Given the description of an element on the screen output the (x, y) to click on. 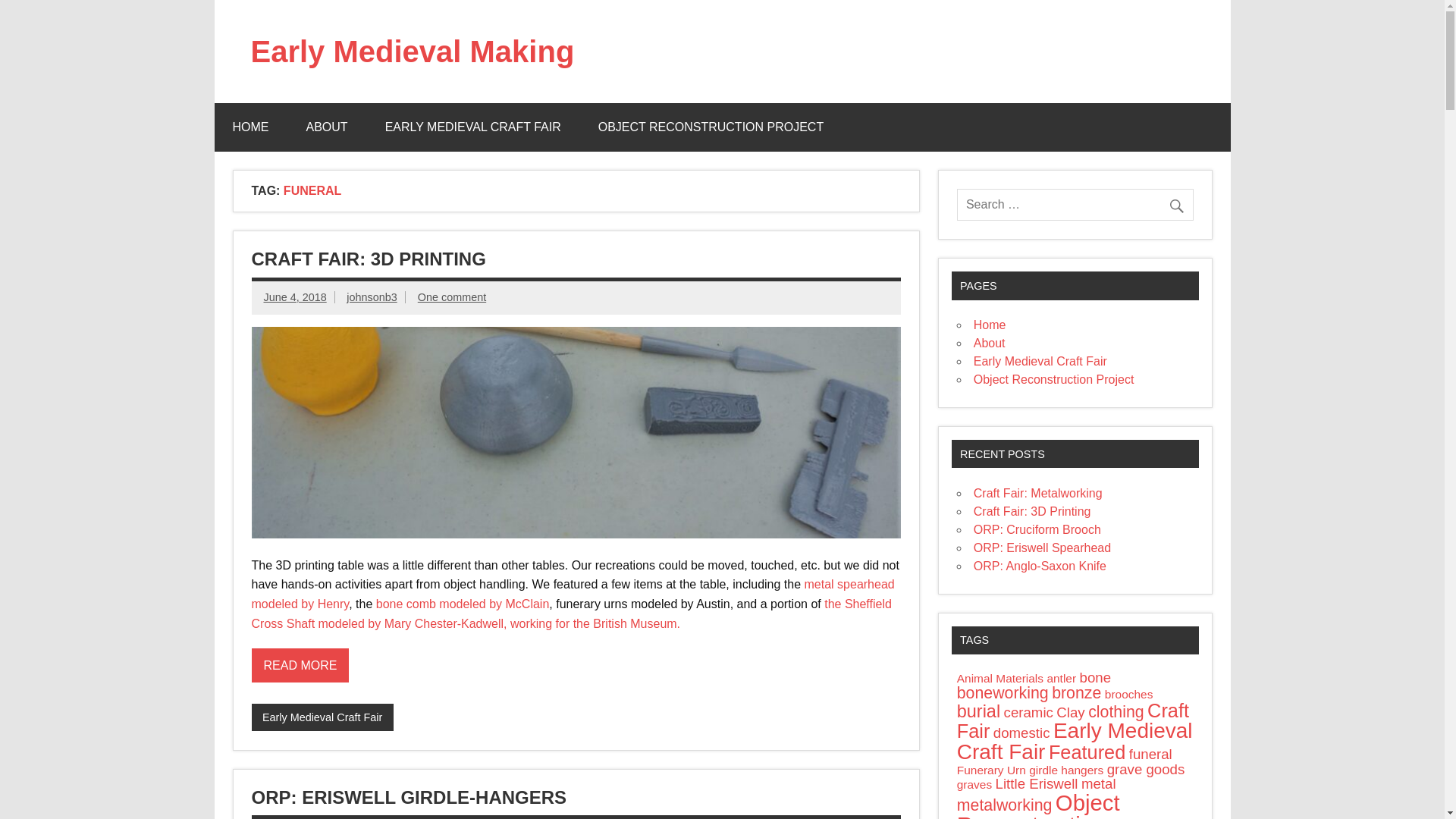
metal spearhead modeled by Henry (573, 594)
READ MORE (300, 665)
OBJECT RECONSTRUCTION PROJECT (711, 127)
johnsonb3 (371, 297)
Early Medieval Craft Fair (322, 717)
CRAFT FAIR: 3D PRINTING (368, 258)
Early Medieval Making (411, 51)
1:39 pm (294, 297)
bone comb modeled by McClain (462, 603)
View all posts by johnsonb3 (371, 297)
HOME (250, 127)
One comment (451, 297)
EARLY MEDIEVAL CRAFT FAIR (472, 127)
ABOUT (327, 127)
